Given the description of an element on the screen output the (x, y) to click on. 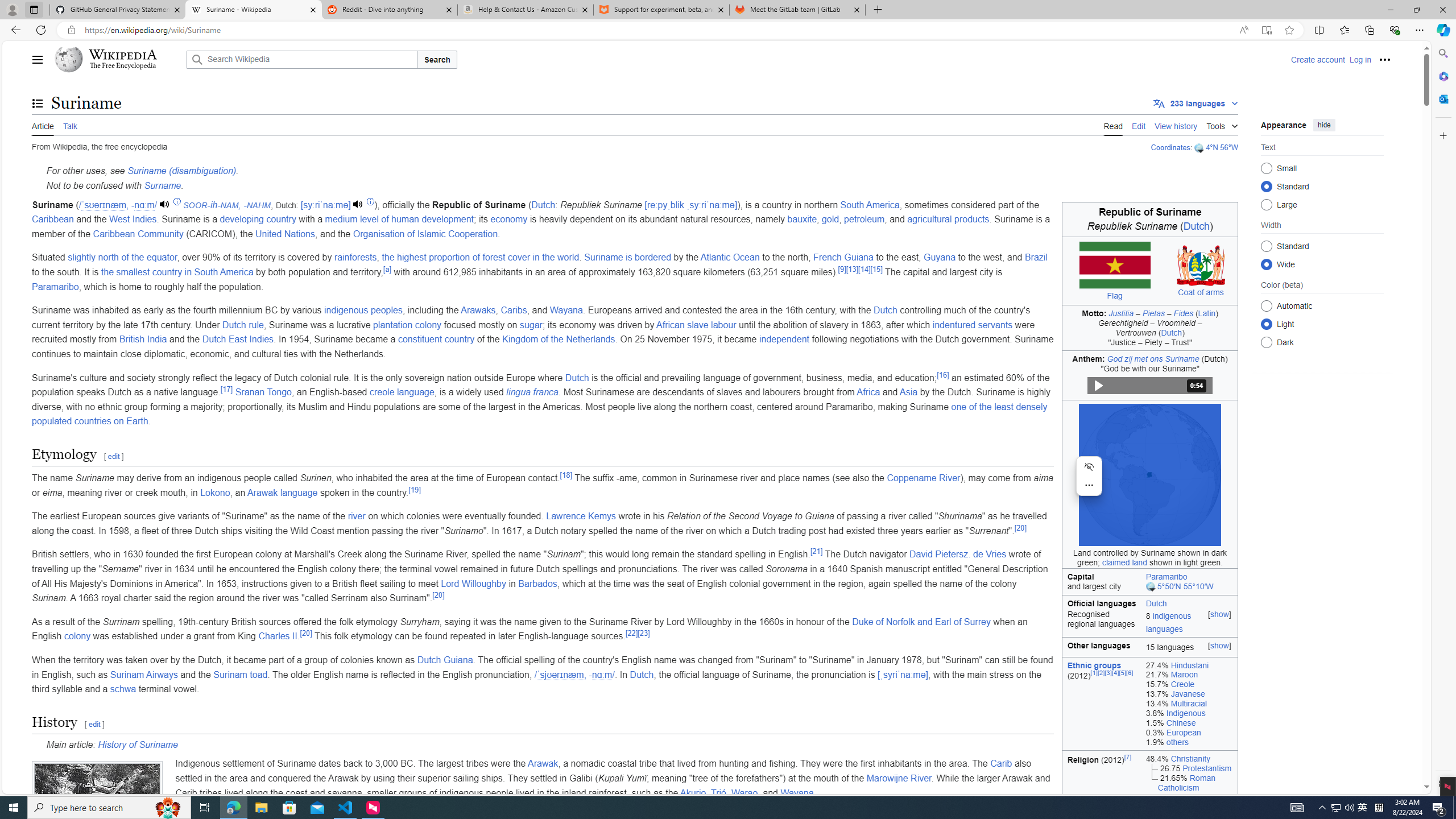
colony (77, 636)
Barbados (537, 583)
Article (42, 124)
Class: mergedrow (1149, 623)
Dutch East Indies (237, 339)
Surinam toad (239, 674)
15.7% Creole (1189, 684)
Toggle the table of contents (37, 103)
[show] 8 indigenous languages (1189, 623)
Flag (1114, 295)
13.7% Javanese (1189, 694)
Caribbean (53, 219)
